Given the description of an element on the screen output the (x, y) to click on. 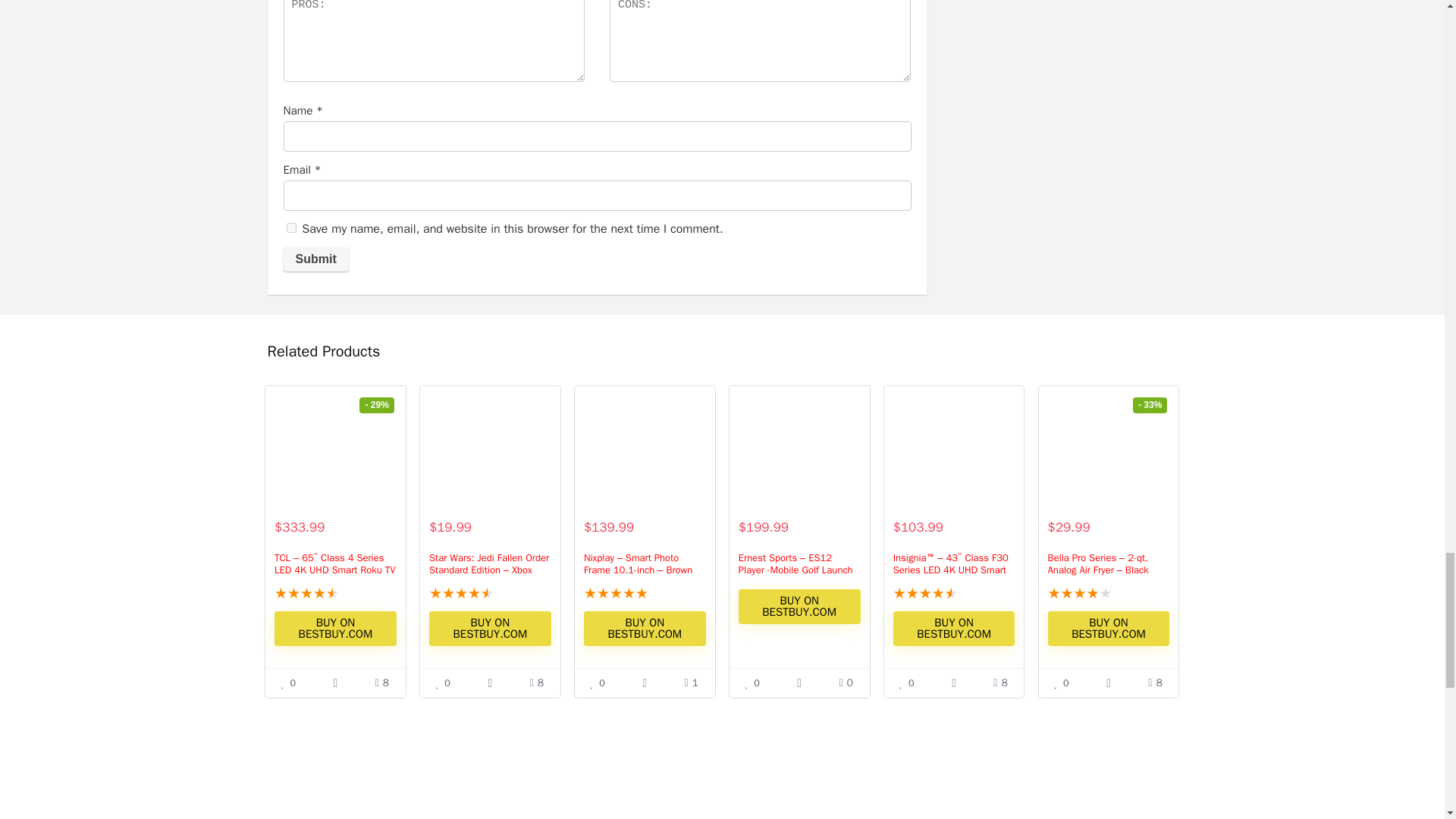
yes (291, 227)
Submit (316, 259)
Submit (316, 259)
